Given the description of an element on the screen output the (x, y) to click on. 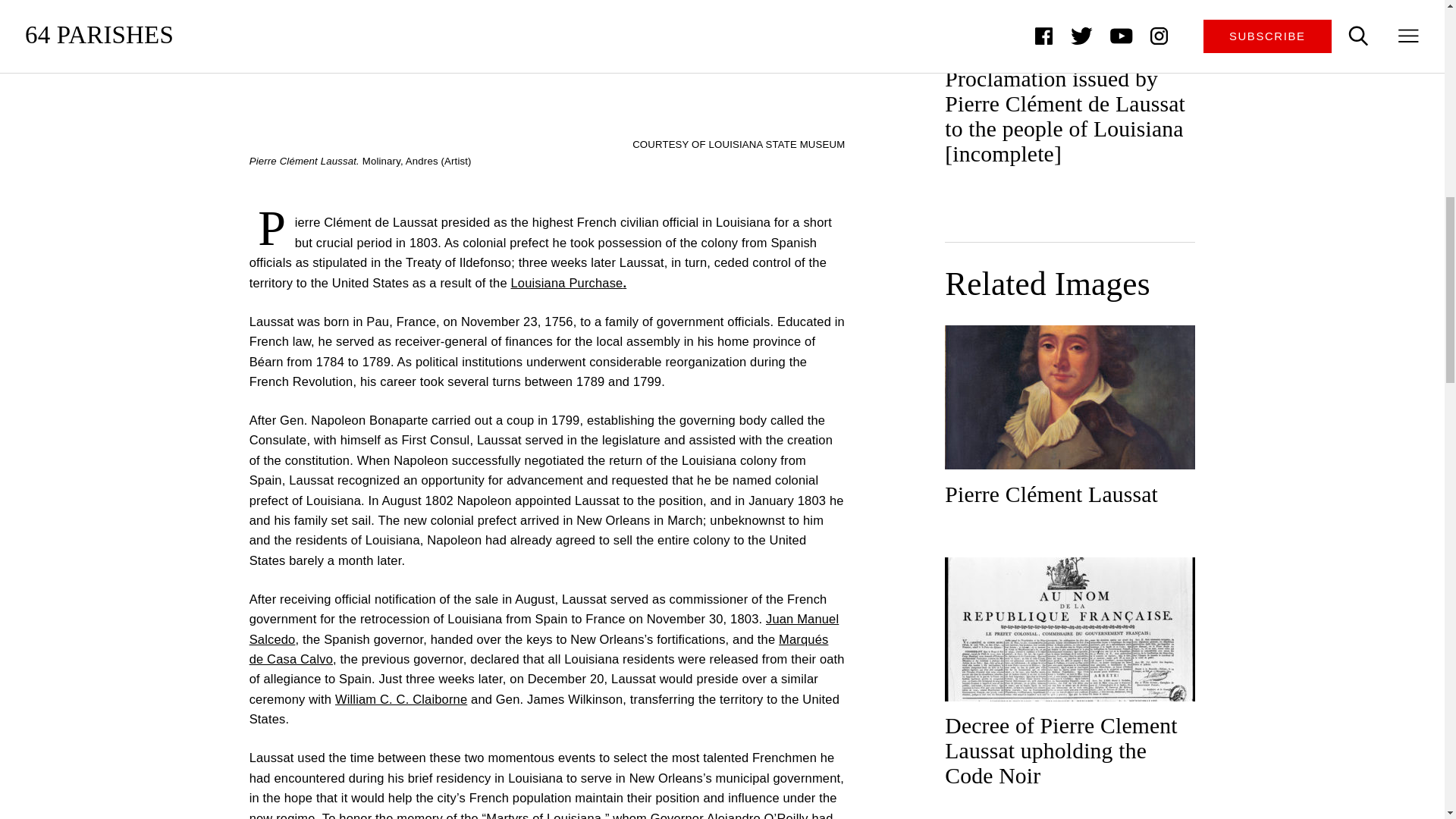
. (624, 282)
Louisiana Purchase (567, 282)
William C. C. Claiborne (400, 698)
Juan Manuel Salcedo (544, 628)
